Given the description of an element on the screen output the (x, y) to click on. 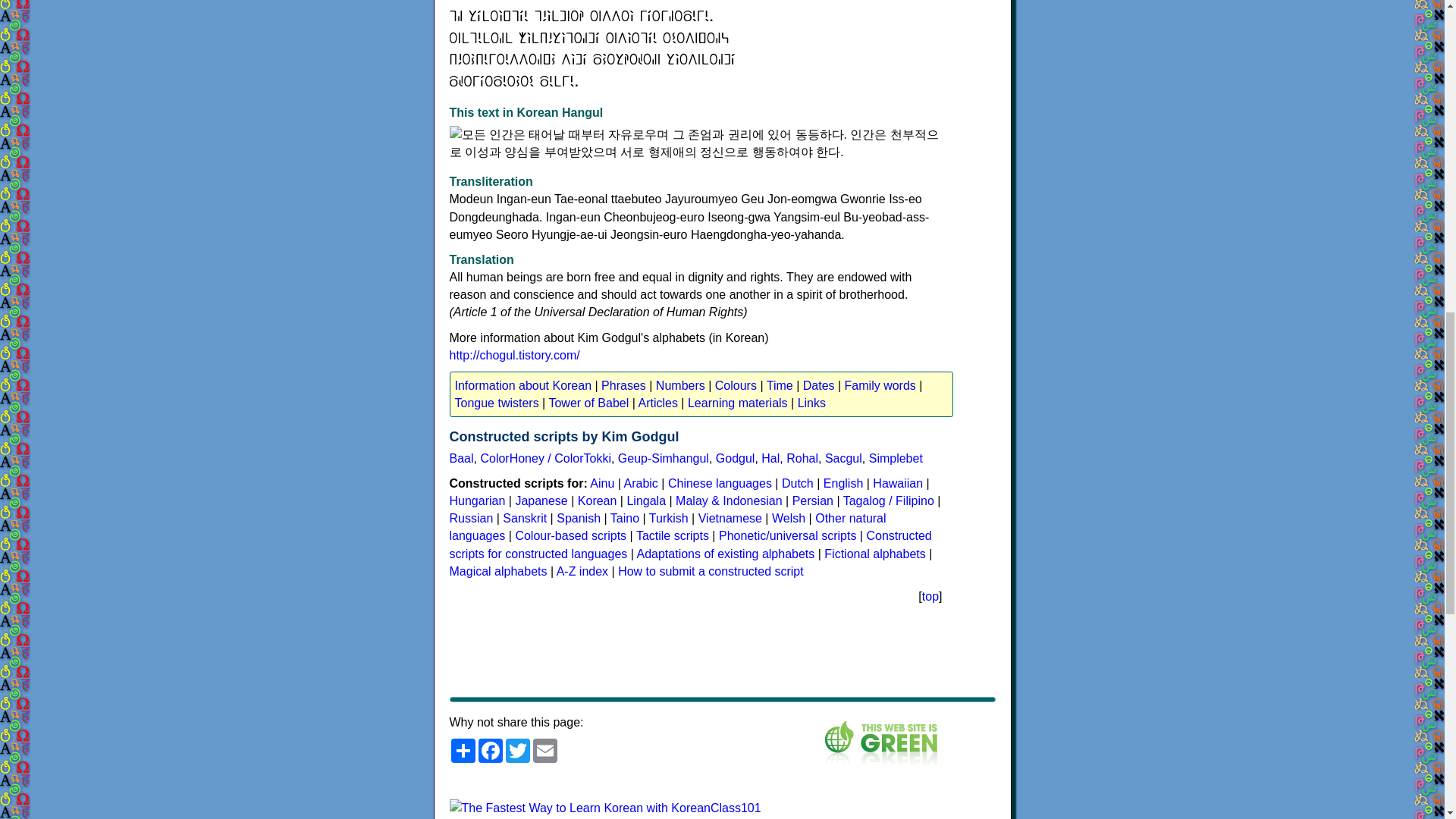
Phrases (623, 387)
Colours (735, 387)
Dutch (797, 482)
Links (811, 404)
English (843, 482)
Tongue twisters (496, 404)
Ainu (601, 482)
Information about Korean (523, 387)
Learning materials (737, 404)
Family words (879, 387)
